Given the description of an element on the screen output the (x, y) to click on. 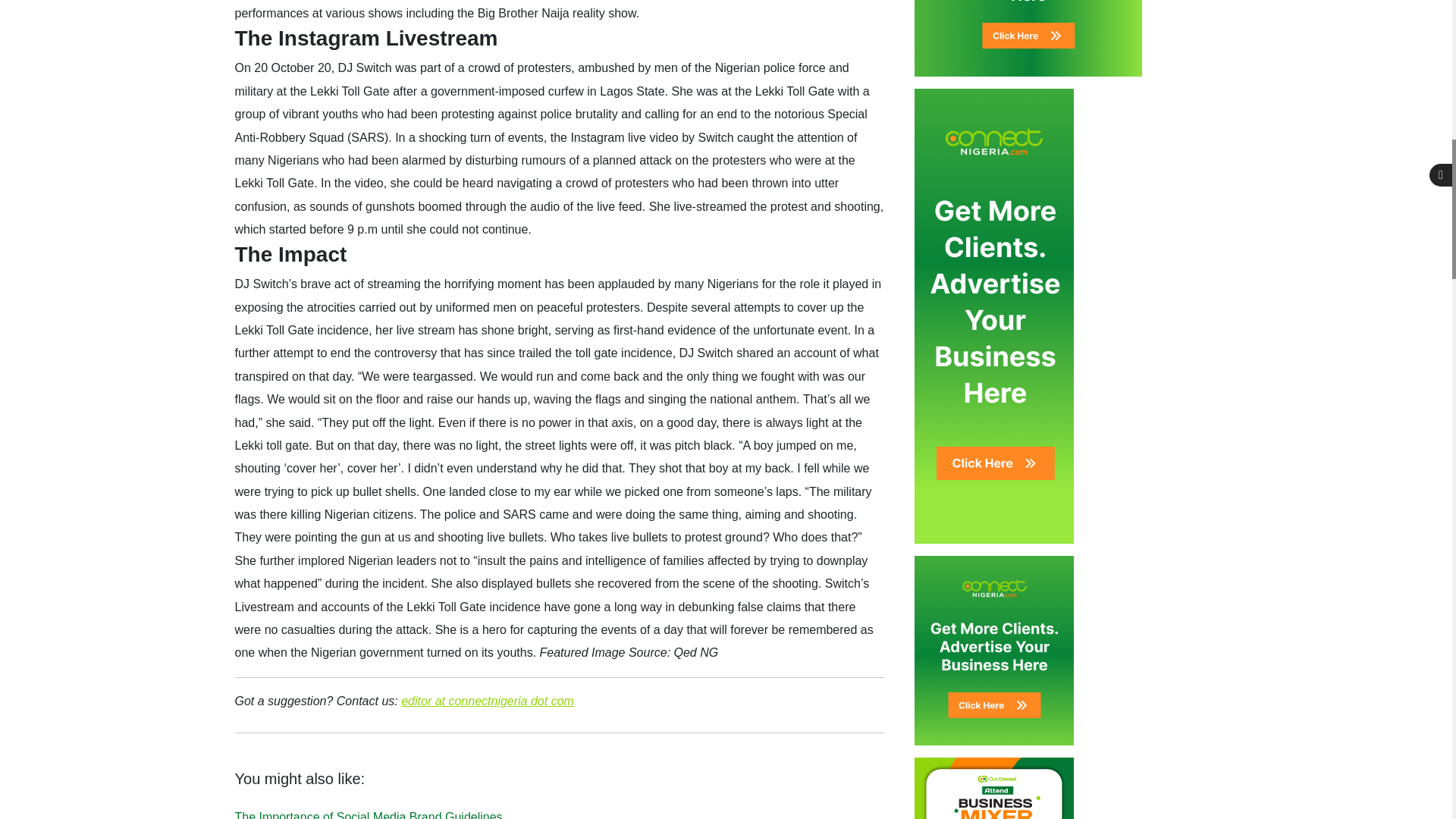
The Importance of Social Media Brand Guidelines (368, 814)
editor at connectnigeria dot com (487, 700)
